Given the description of an element on the screen output the (x, y) to click on. 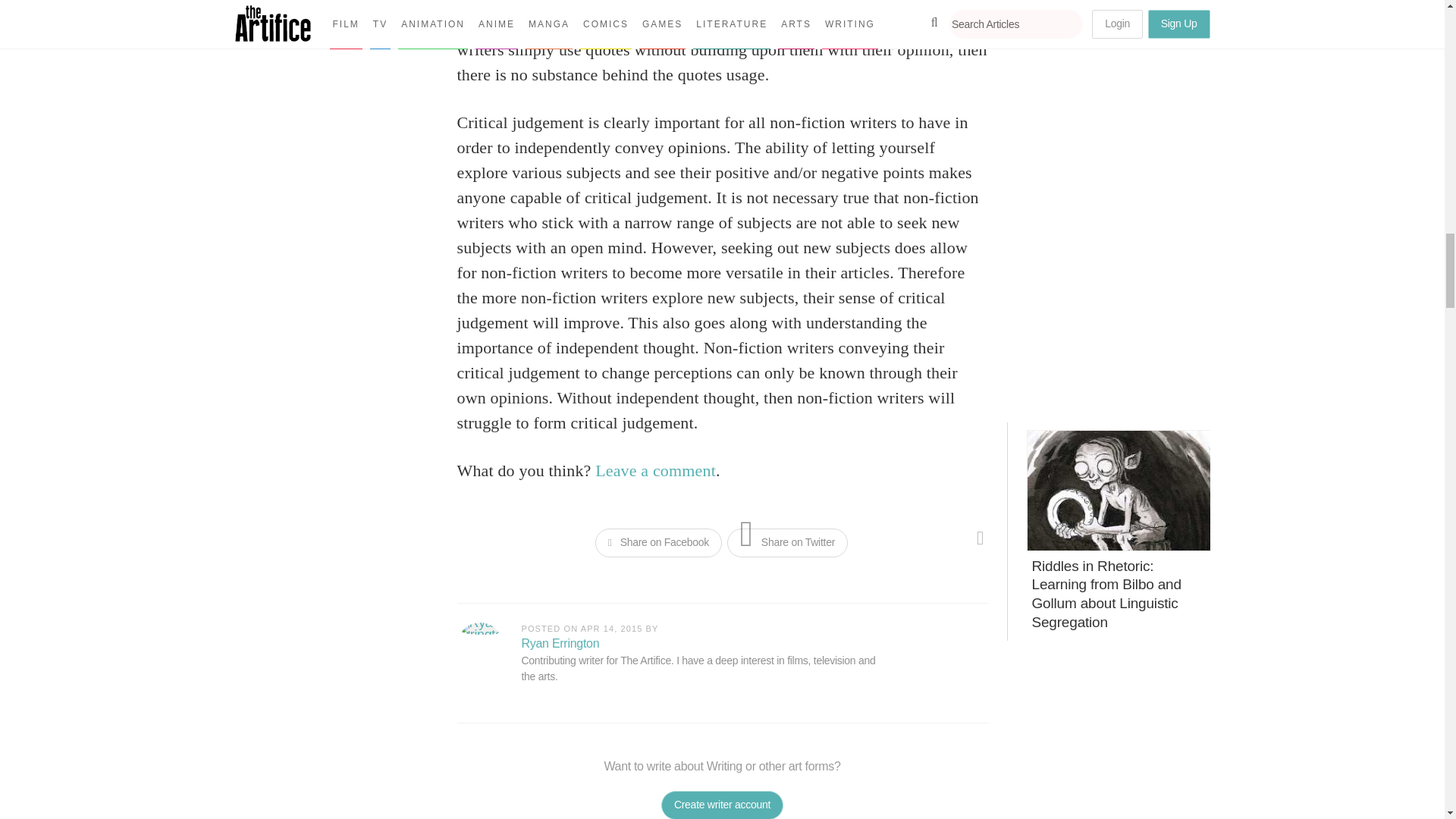
Profile of Ryan Errington (560, 643)
Leave a comment (655, 470)
Ryan Errington (479, 645)
Share on Twitter (786, 542)
Share on Facebook (658, 542)
